Given the description of an element on the screen output the (x, y) to click on. 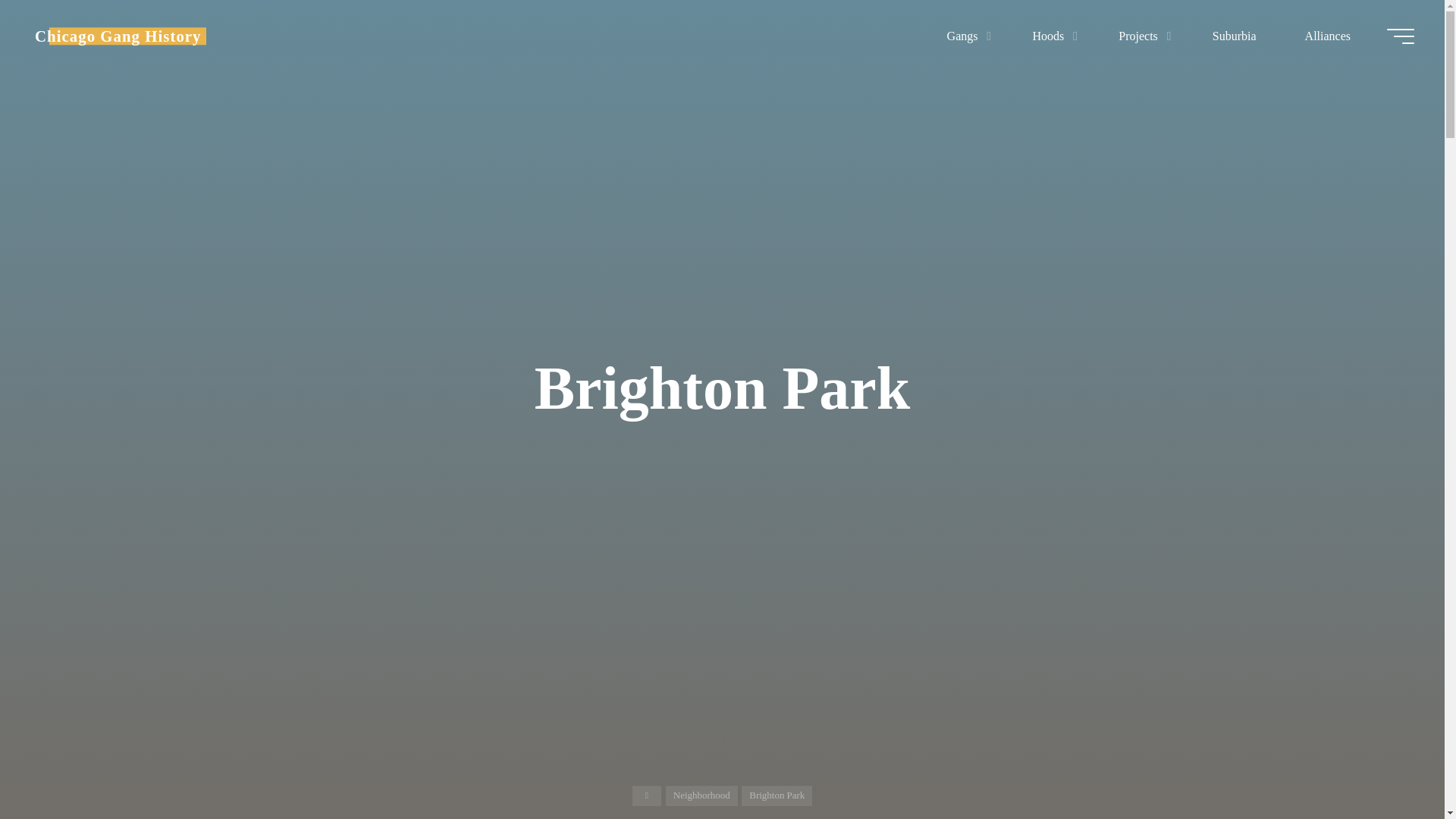
Gangs (966, 35)
20th Century Gang History (118, 36)
Home (646, 795)
Read more (721, 724)
Chicago Gang History (118, 36)
